Given the description of an element on the screen output the (x, y) to click on. 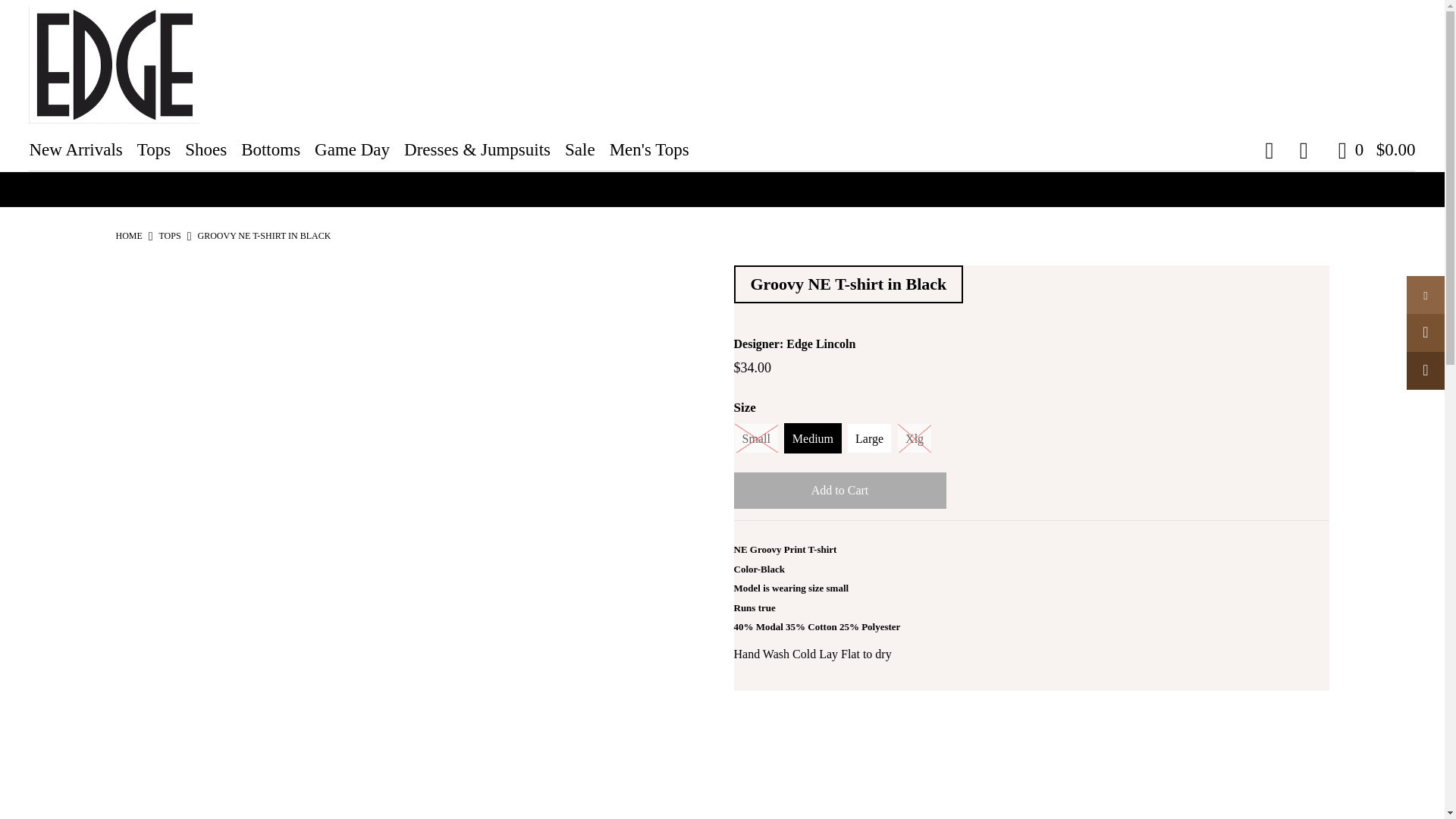
TOPS (169, 235)
Shoes (211, 149)
Bottoms (276, 149)
Men's Tops (655, 149)
New Arrivals (81, 149)
Add to Cart (839, 490)
Tops (169, 235)
HOME (128, 235)
Add to Cart (839, 490)
Sale (585, 149)
